Given the description of an element on the screen output the (x, y) to click on. 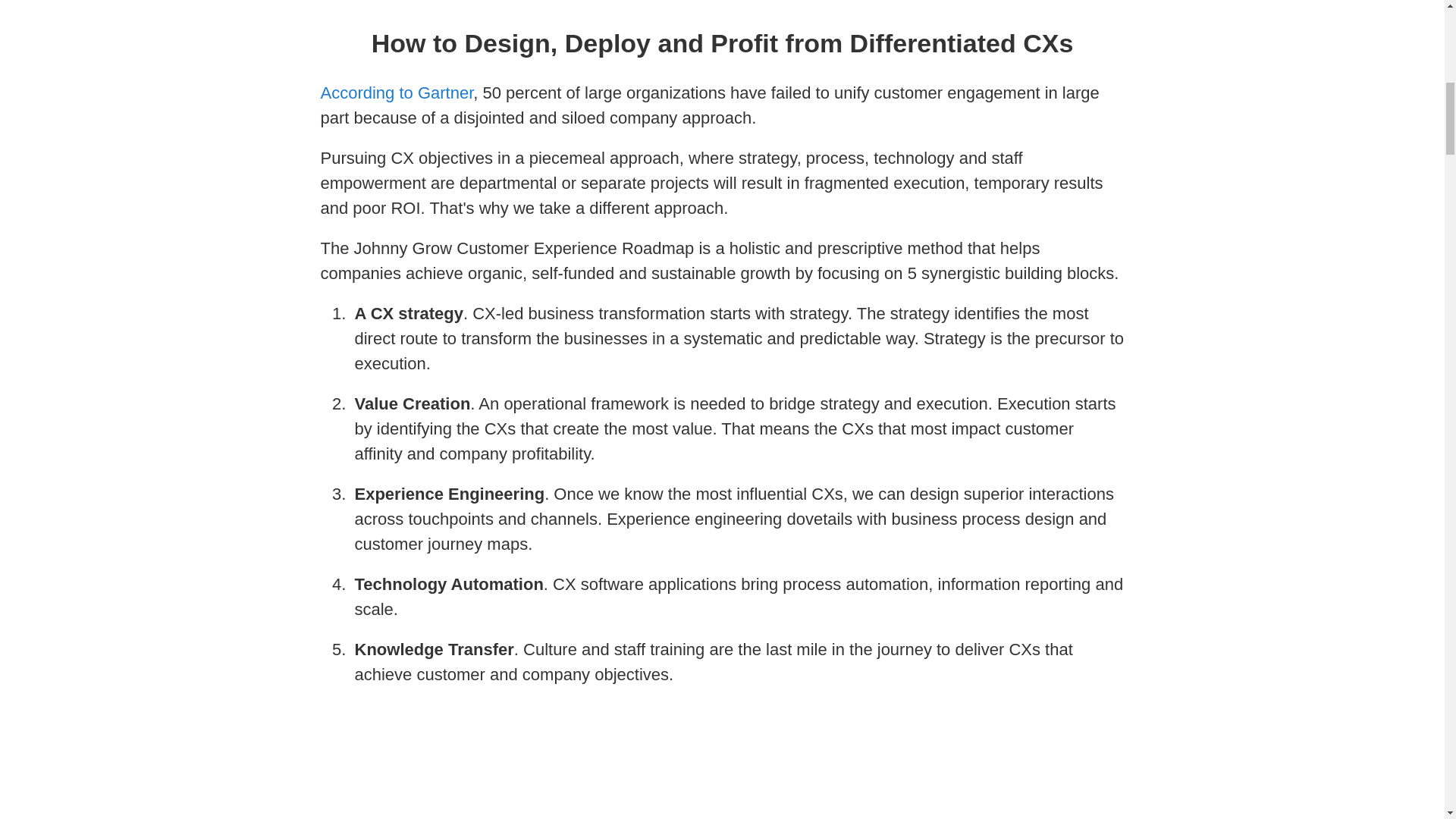
Customer Experience Roadmap - Johnny Grow (721, 775)
